Given the description of an element on the screen output the (x, y) to click on. 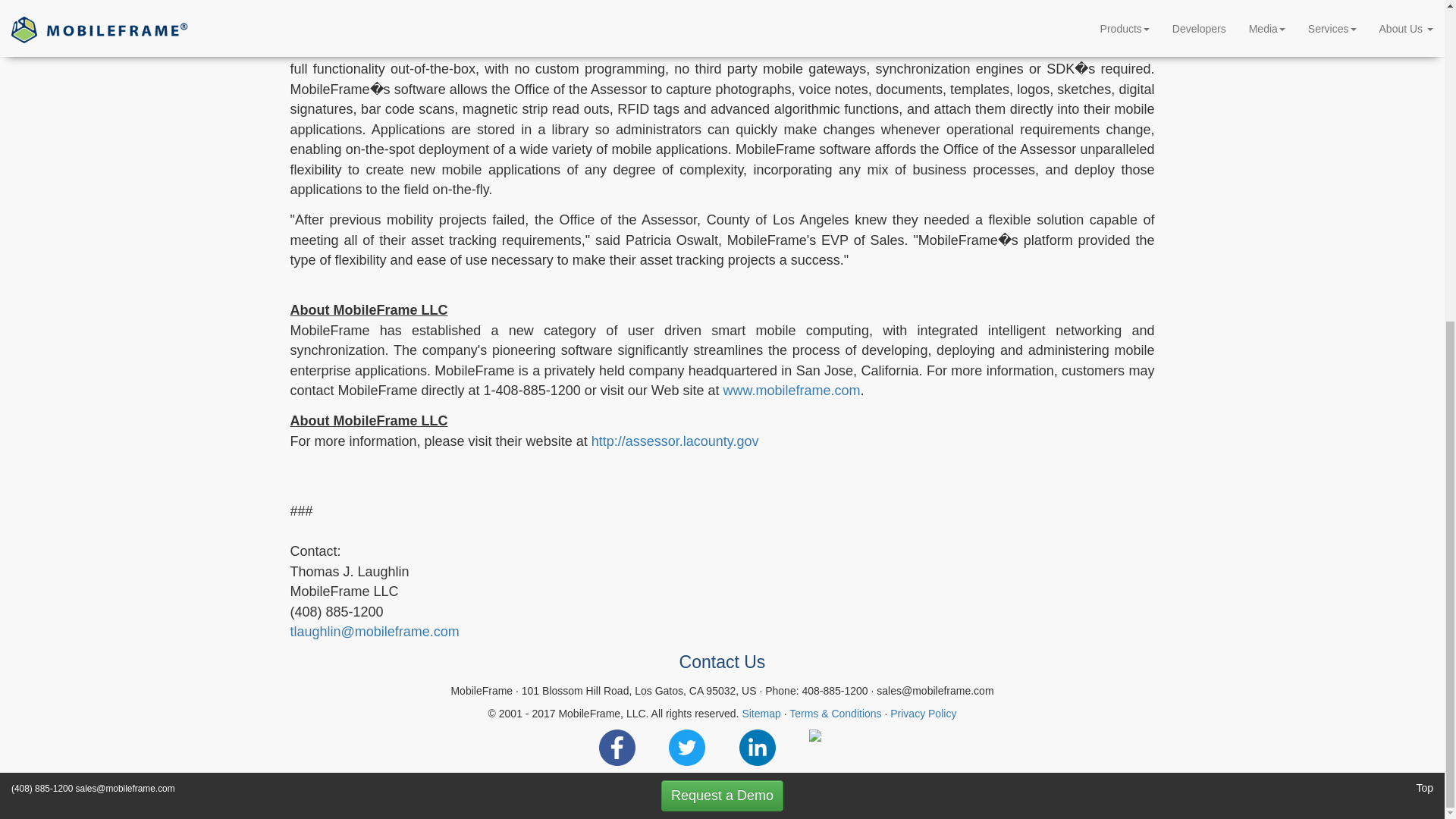
Contact Us (722, 662)
Back to top of page (1423, 265)
www.mobileframe.com (791, 390)
Contact MobileFrame for a demo or more information (722, 273)
Sitemap (760, 713)
